Given the description of an element on the screen output the (x, y) to click on. 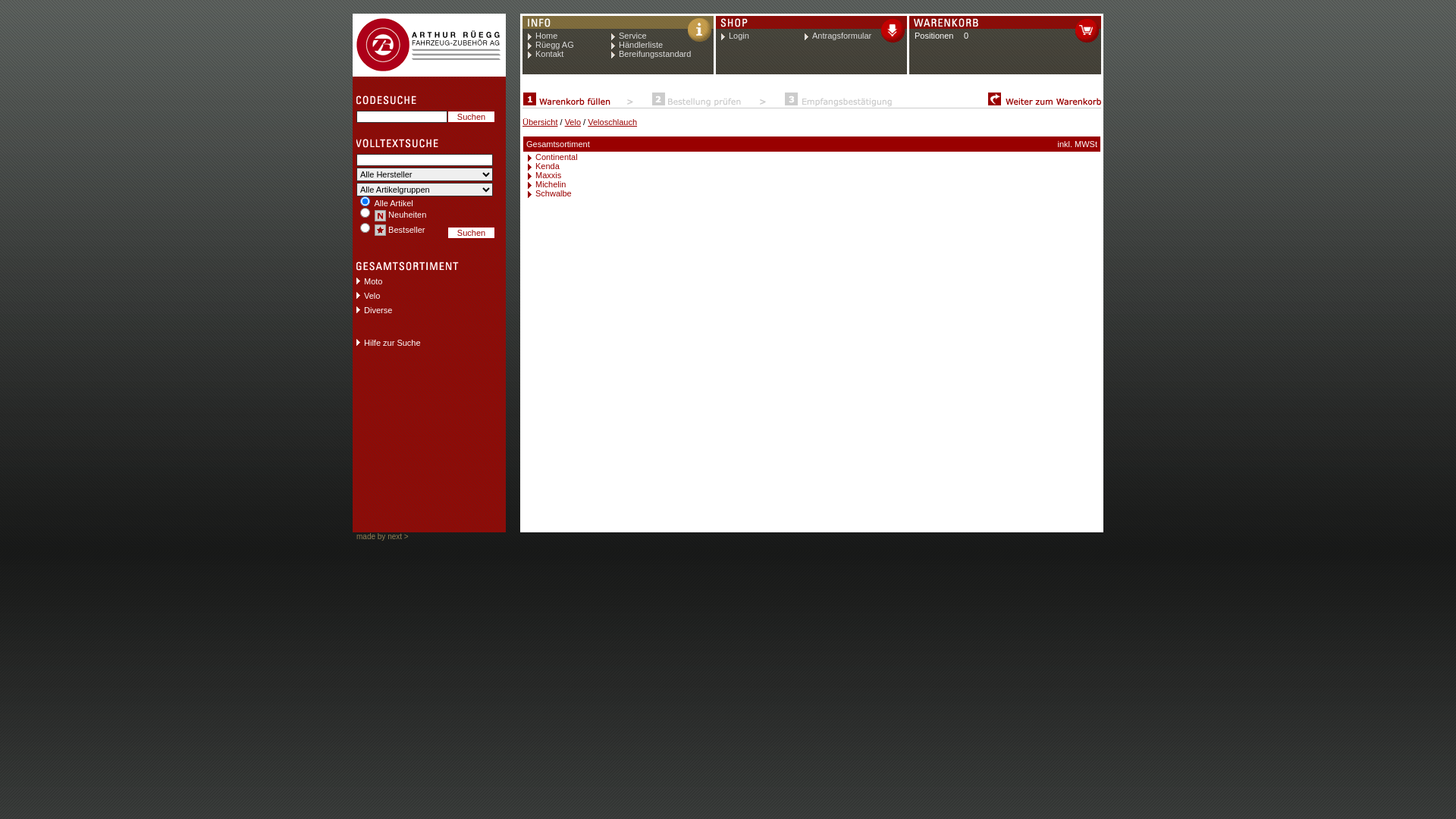
Login Element type: text (762, 35)
Schwalbe Element type: text (813, 192)
Velo Element type: text (572, 121)
Hilfe zur Suche Element type: text (416, 342)
made by next > Element type: text (380, 534)
Suchen Element type: text (471, 232)
Kontakt Element type: text (569, 53)
Bereifungsstandard Element type: text (662, 53)
Moto Element type: text (416, 281)
Veloschlauch Element type: text (612, 121)
Service Element type: text (662, 35)
Home Element type: text (569, 35)
Diverse Element type: text (416, 310)
Kenda Element type: text (813, 165)
Velo Element type: text (416, 295)
Suchen Element type: text (471, 116)
Michelin Element type: text (813, 183)
Maxxis Element type: text (813, 174)
Antragsformular Element type: text (853, 35)
Continental Element type: text (813, 156)
